Given the description of an element on the screen output the (x, y) to click on. 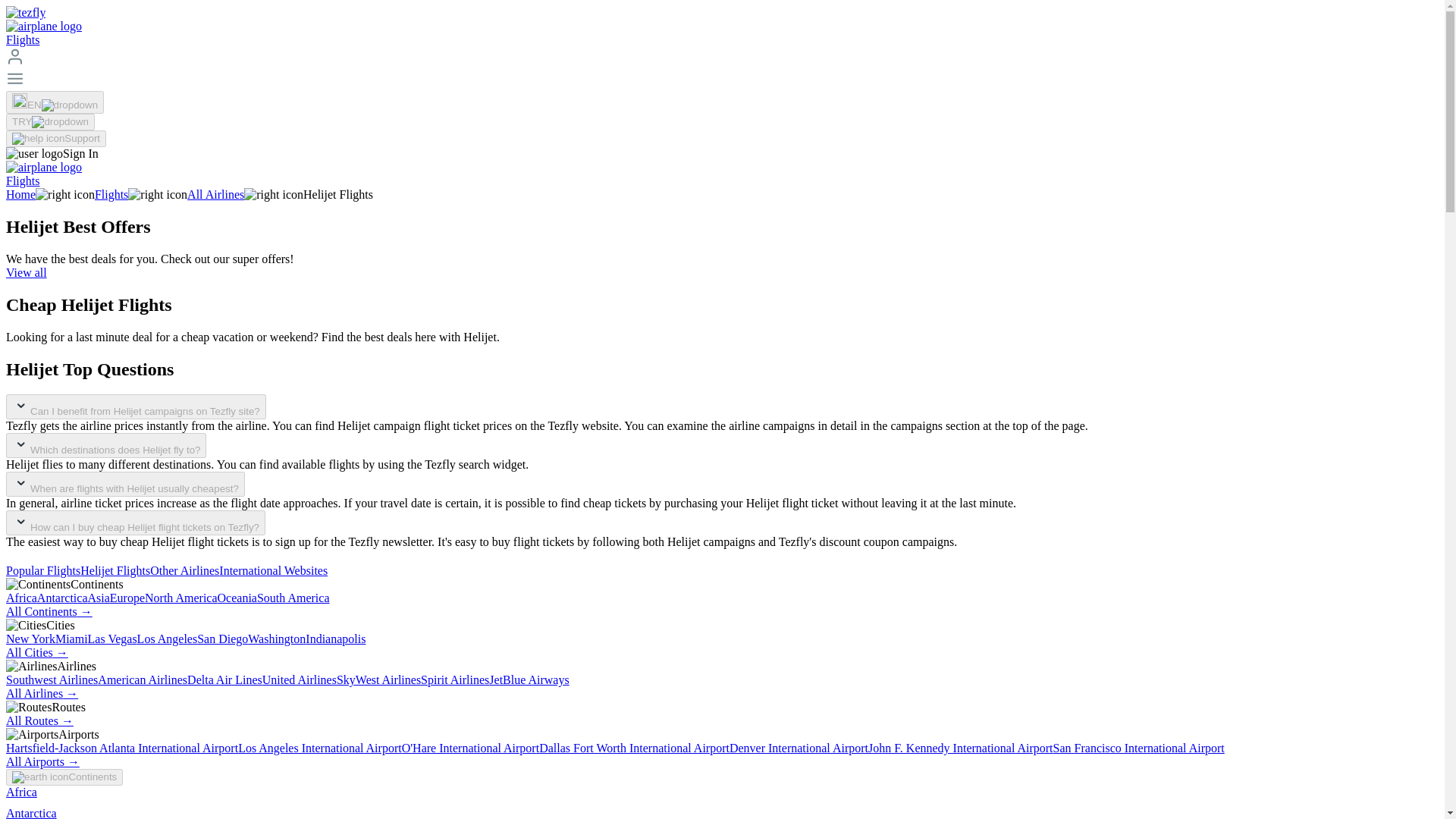
North America (180, 597)
Flights (111, 194)
Can I benefit from Helijet campaigns on Tezfly site? (135, 406)
Support (55, 138)
Antarctica (62, 597)
All Airlines (215, 194)
Other Airlines (184, 570)
When are flights with Helijet usually cheapest? (124, 483)
Delta Air Lines (224, 679)
International Websites (273, 570)
